Given the description of an element on the screen output the (x, y) to click on. 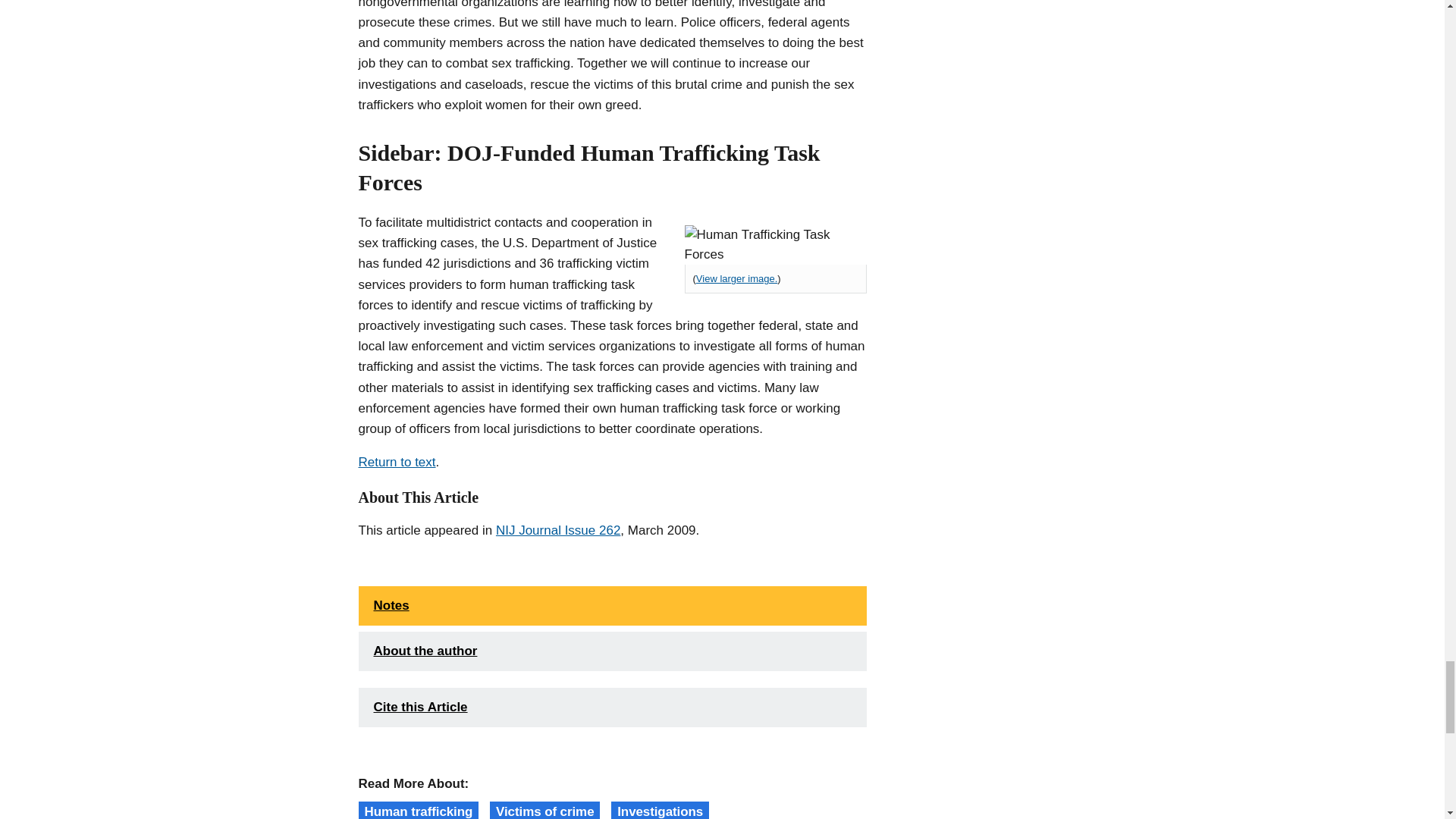
Cite this Article (612, 707)
Victims of crime (544, 810)
Return to text (396, 462)
Human trafficking (418, 810)
About the author (612, 650)
NIJ Journal Issue 262 (558, 530)
View larger image. (736, 278)
Investigations (660, 810)
Notes (612, 605)
Sex Trafficking: Identifying Cases and Victims.  (775, 244)
